Given the description of an element on the screen output the (x, y) to click on. 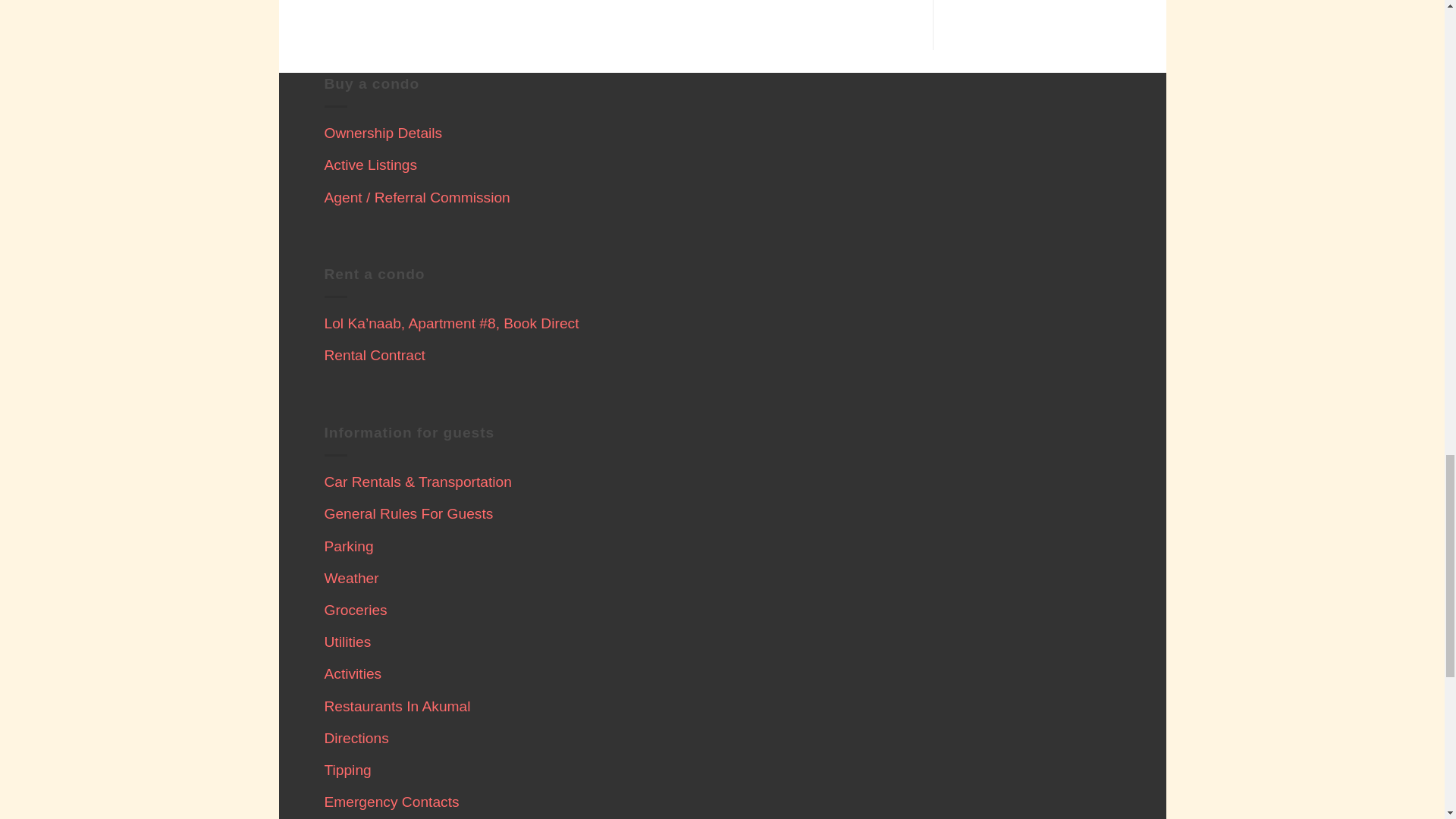
General Rules For Guests (408, 513)
Ownership Details (383, 132)
Active Listings (370, 164)
Groceries (355, 609)
Utilities (347, 641)
Weather (351, 578)
Parking (349, 546)
Activities (352, 673)
Rental Contract (374, 355)
